Given the description of an element on the screen output the (x, y) to click on. 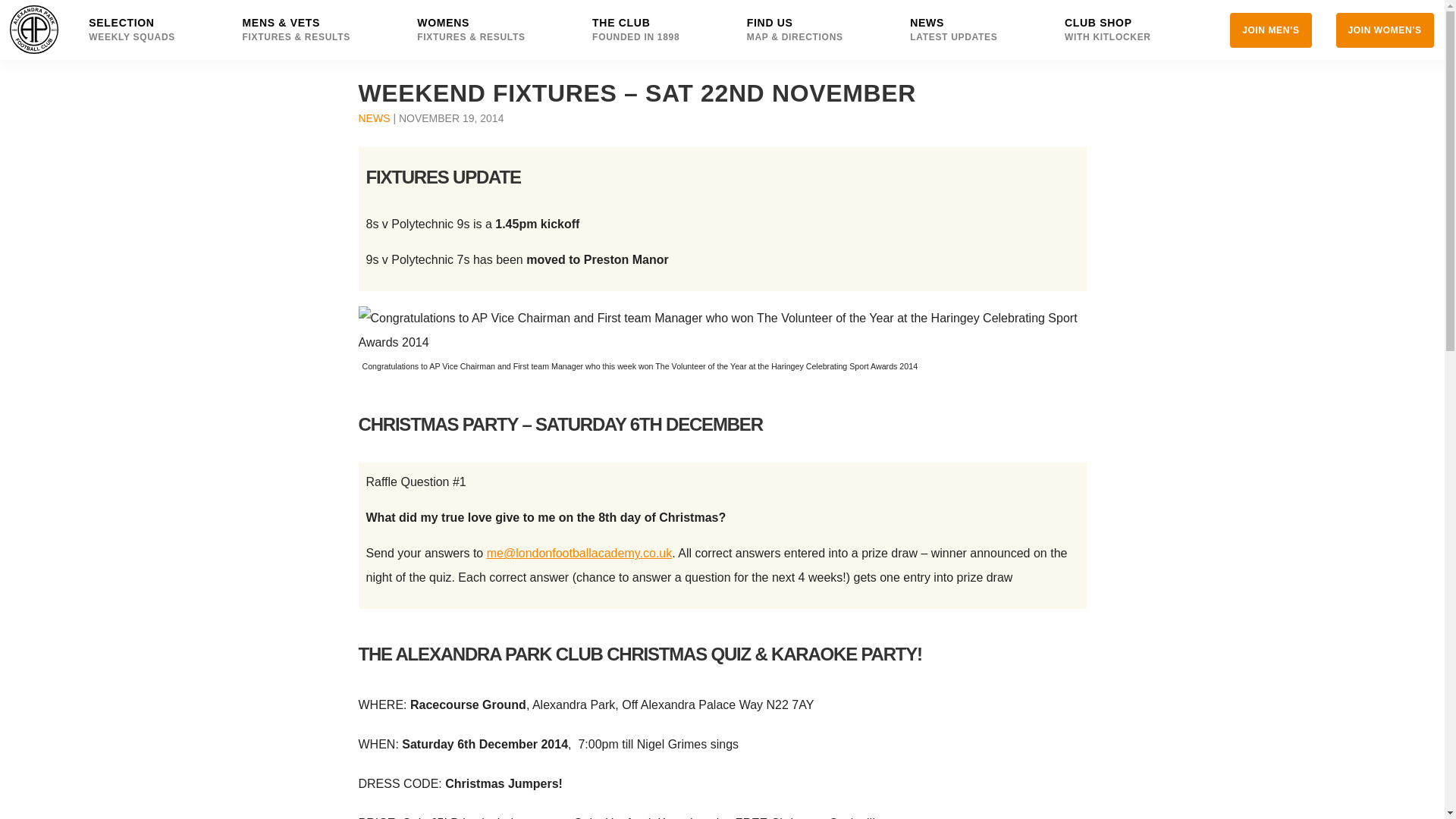
NEWS (143, 30)
Alexandra Park FC (1119, 30)
ALEXANDRA PARK FC (374, 118)
